Given the description of an element on the screen output the (x, y) to click on. 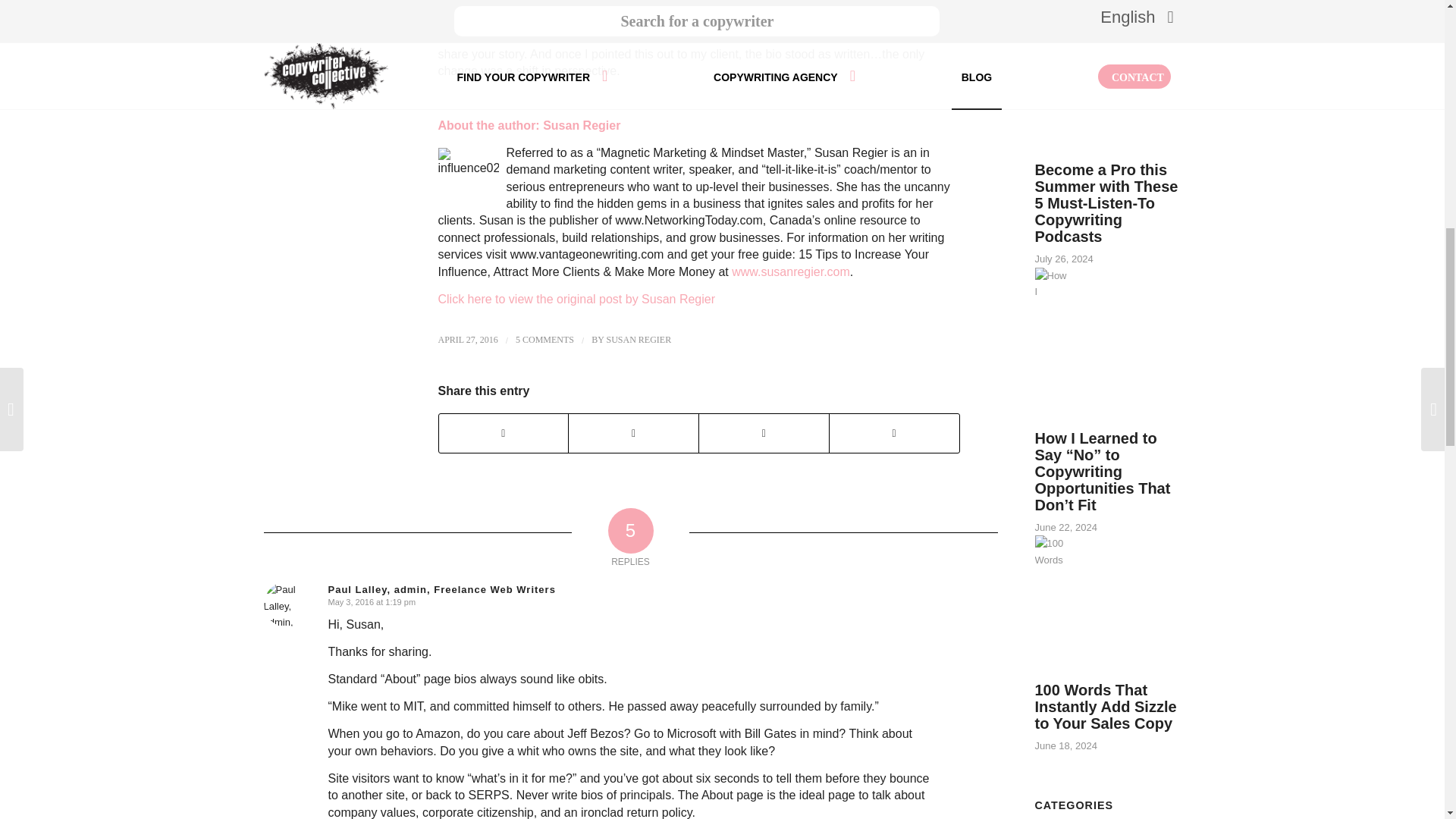
May 3, 2016 at 1:19 pm (370, 601)
www.susanregier.com (791, 271)
SUSAN REGIER (638, 339)
Posts by Susan Regier (638, 339)
5 COMMENTS (544, 339)
Click here to view the original post by Susan Regier (577, 298)
